Given the description of an element on the screen output the (x, y) to click on. 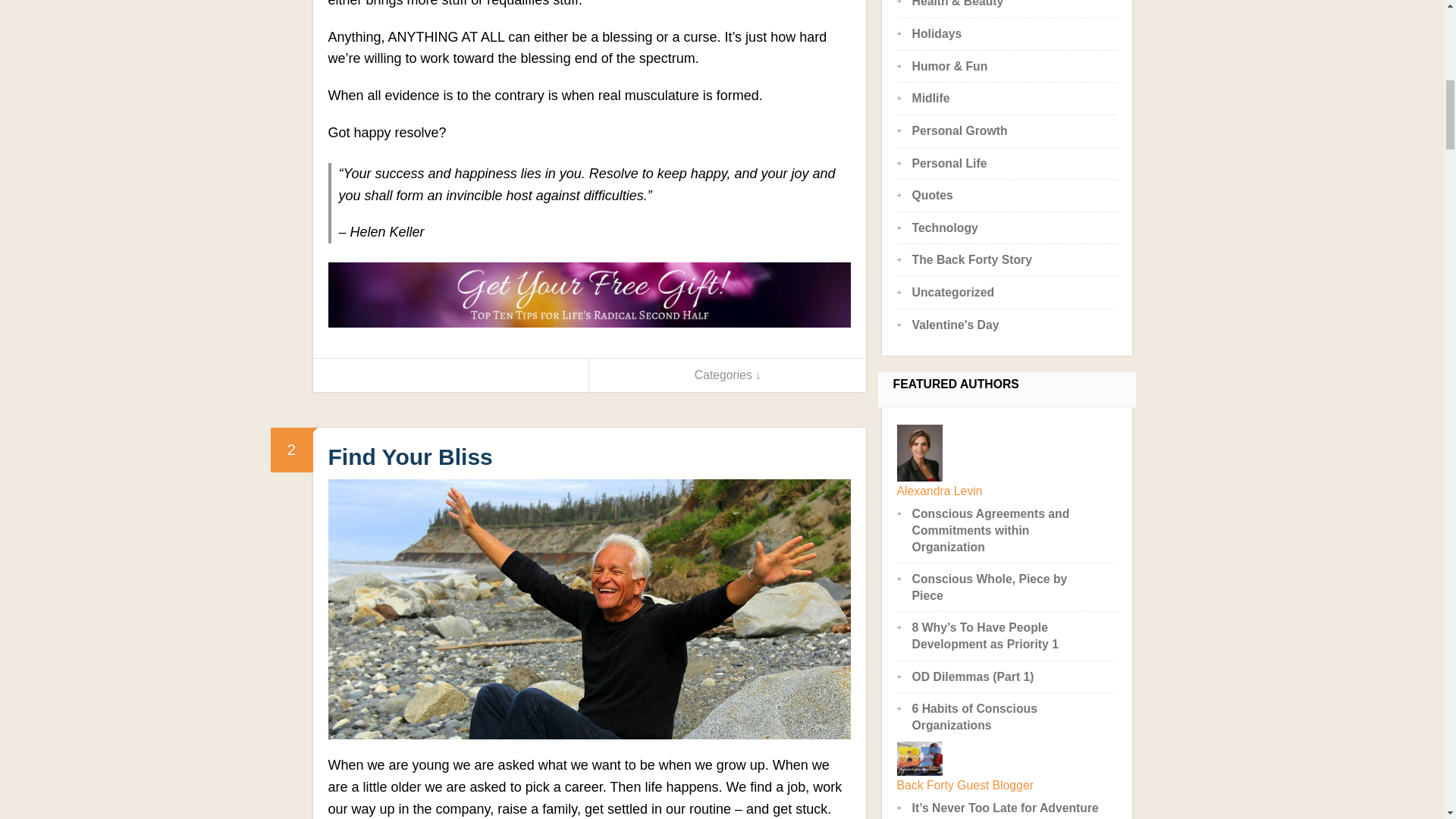
Posts by Back Forty Guest Blogger (964, 784)
2 (291, 449)
Conscious Whole, Piece by Piece (989, 586)
Posts by Alexandra Levin (939, 490)
Find Your Bliss (409, 456)
6 Habits of Conscious Organizations (974, 716)
Conscious Agreements and Commitments within Organization (991, 529)
